Given the description of an element on the screen output the (x, y) to click on. 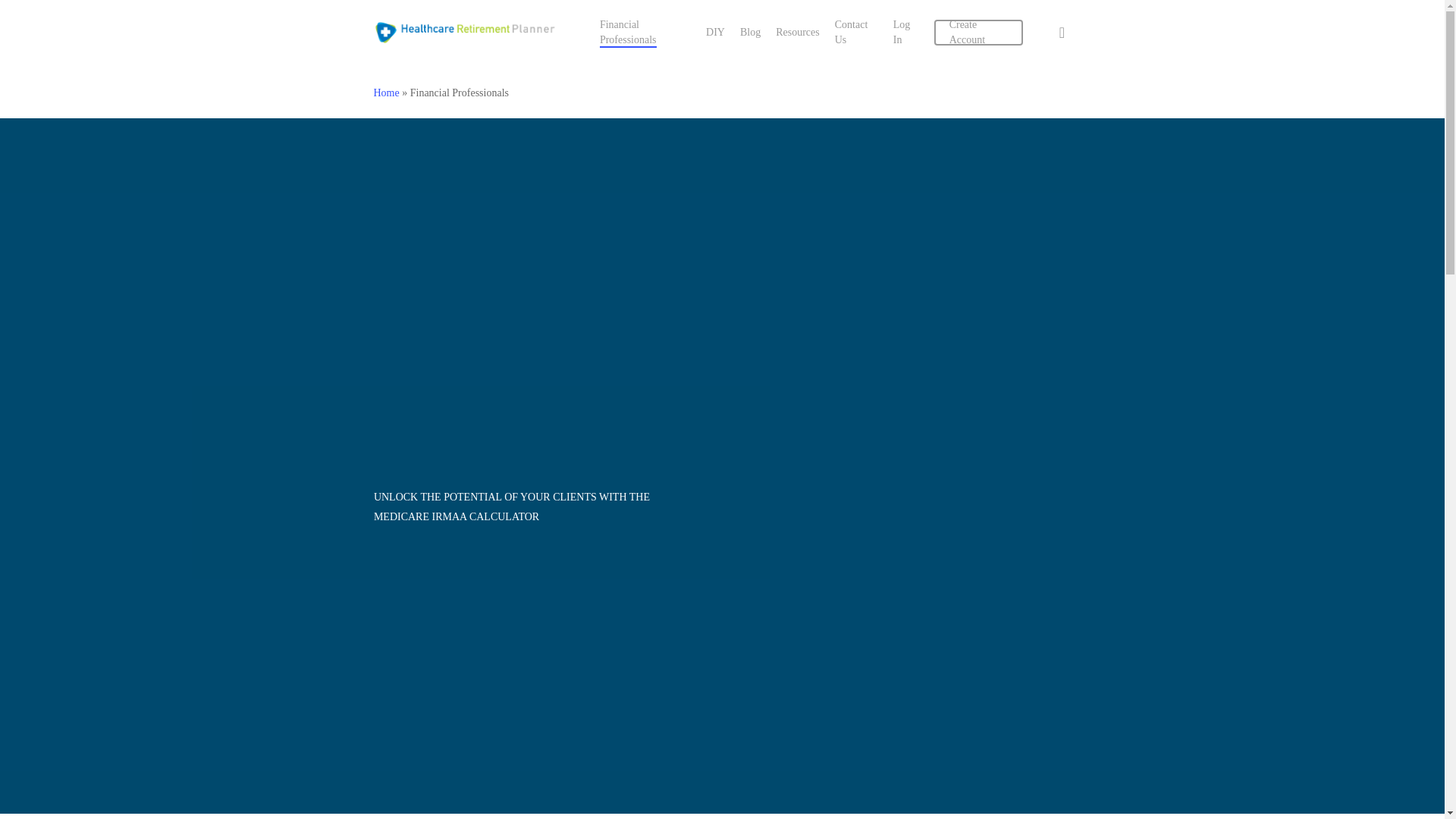
Resources (797, 32)
Financial Professionals (644, 32)
DIY (715, 32)
Contact Us (855, 32)
search (1061, 32)
Blog (749, 32)
Create Account (978, 32)
Home (385, 92)
